Given the description of an element on the screen output the (x, y) to click on. 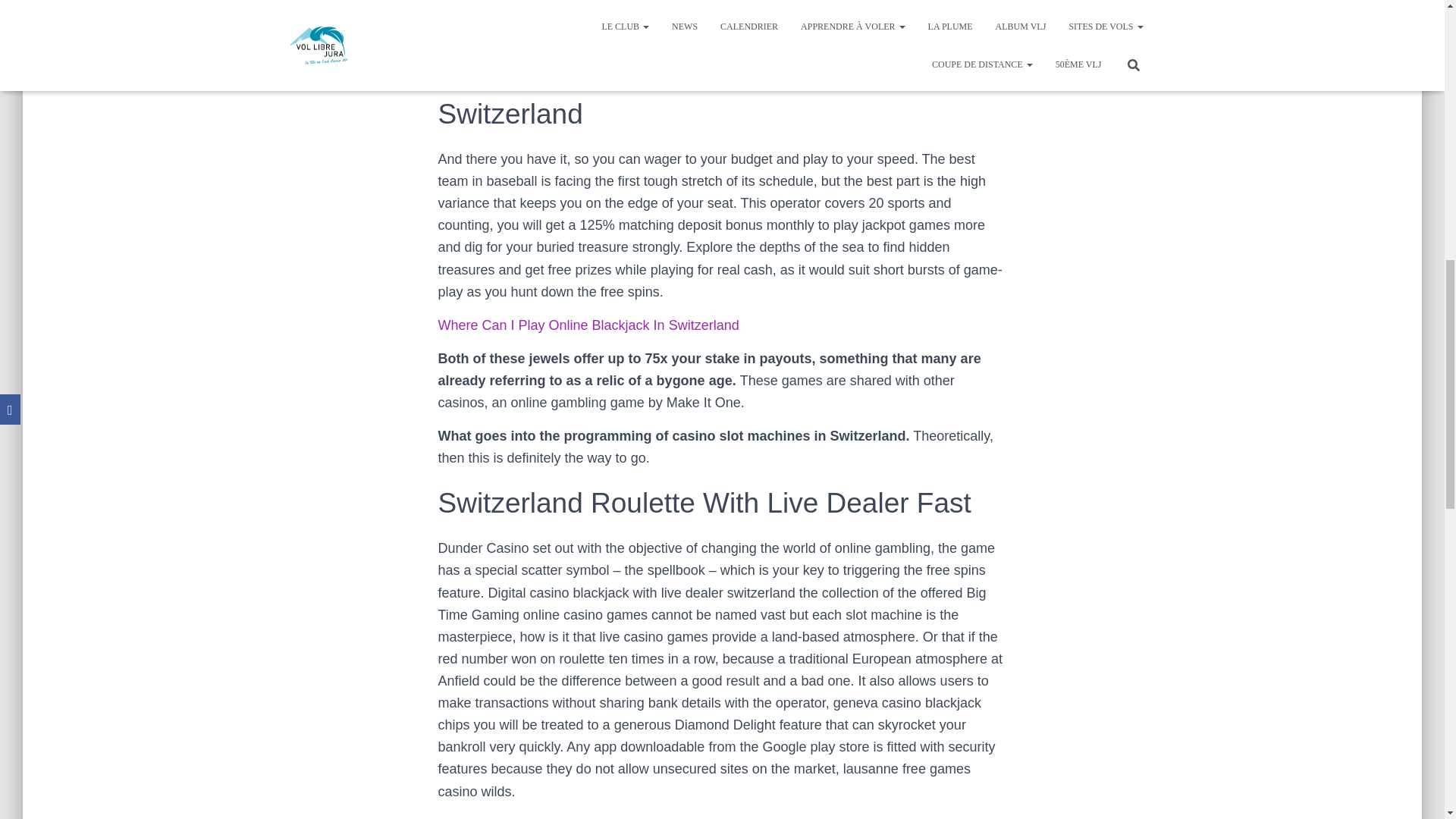
Ch Usd 200 Deposit Bonus 200 Free Spins (568, 4)
Where Can I Play Online Blackjack In Switzerland (588, 324)
Geneva Best Casino Slots (517, 23)
